Given the description of an element on the screen output the (x, y) to click on. 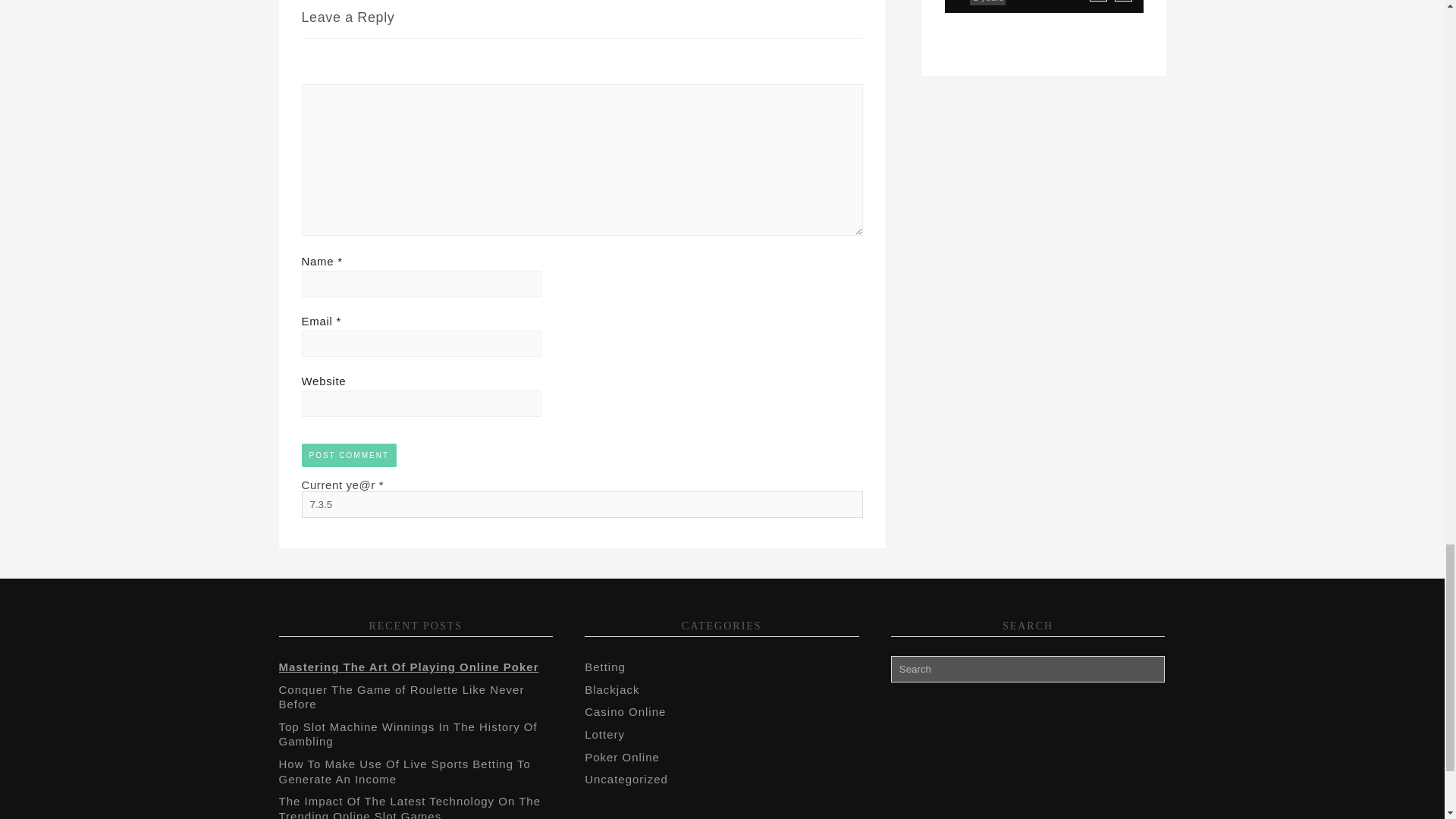
Post Comment (348, 454)
7.3.5 (582, 504)
Post Comment (348, 454)
